Given the description of an element on the screen output the (x, y) to click on. 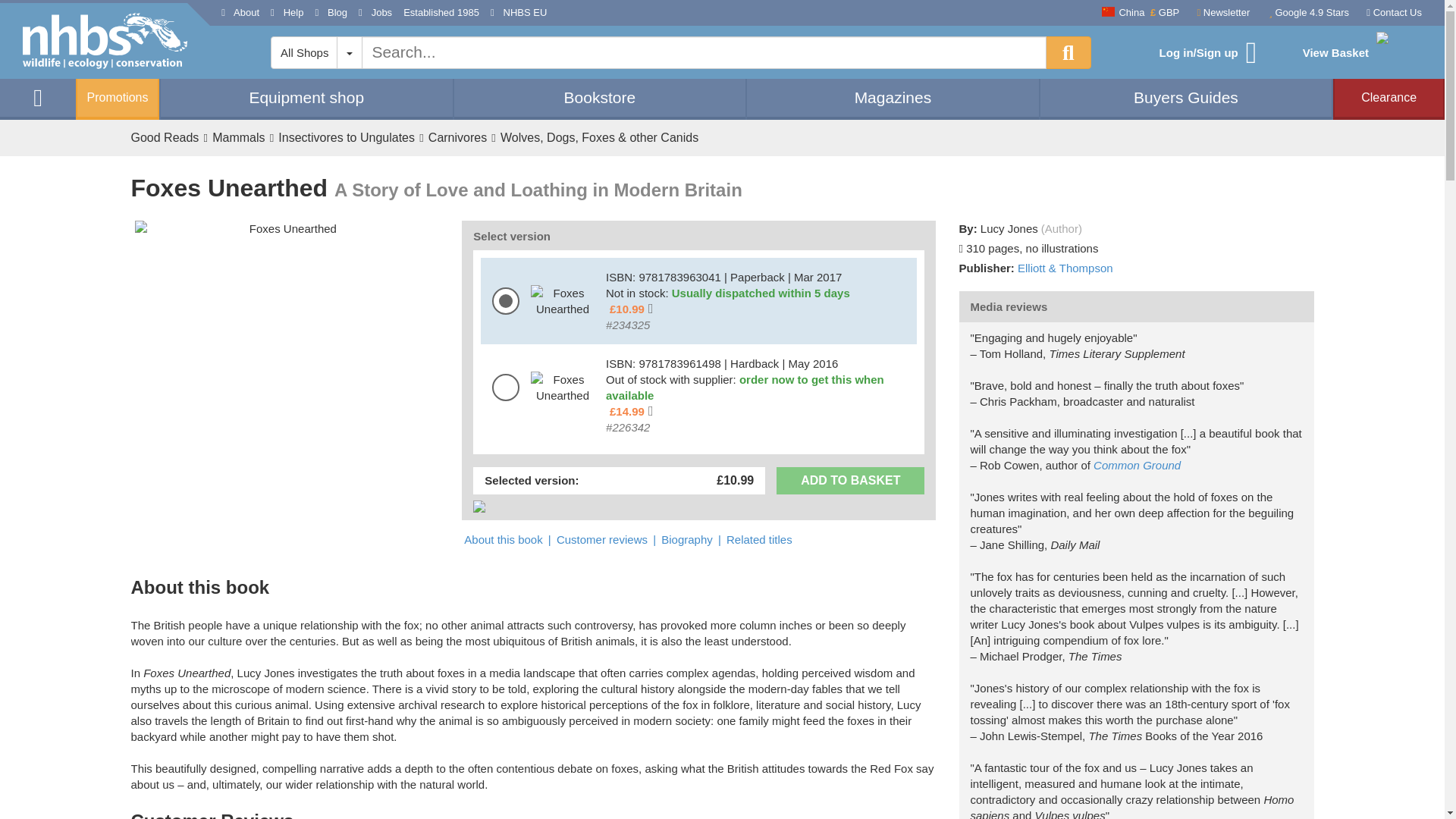
Newsletter (1220, 14)
Blog (330, 12)
Bookstore (599, 97)
About (240, 12)
Established 1985 (441, 12)
View Basket (1358, 52)
Promotions (116, 98)
Equipment shop (306, 97)
Help (286, 12)
Magazines (892, 97)
